Given the description of an element on the screen output the (x, y) to click on. 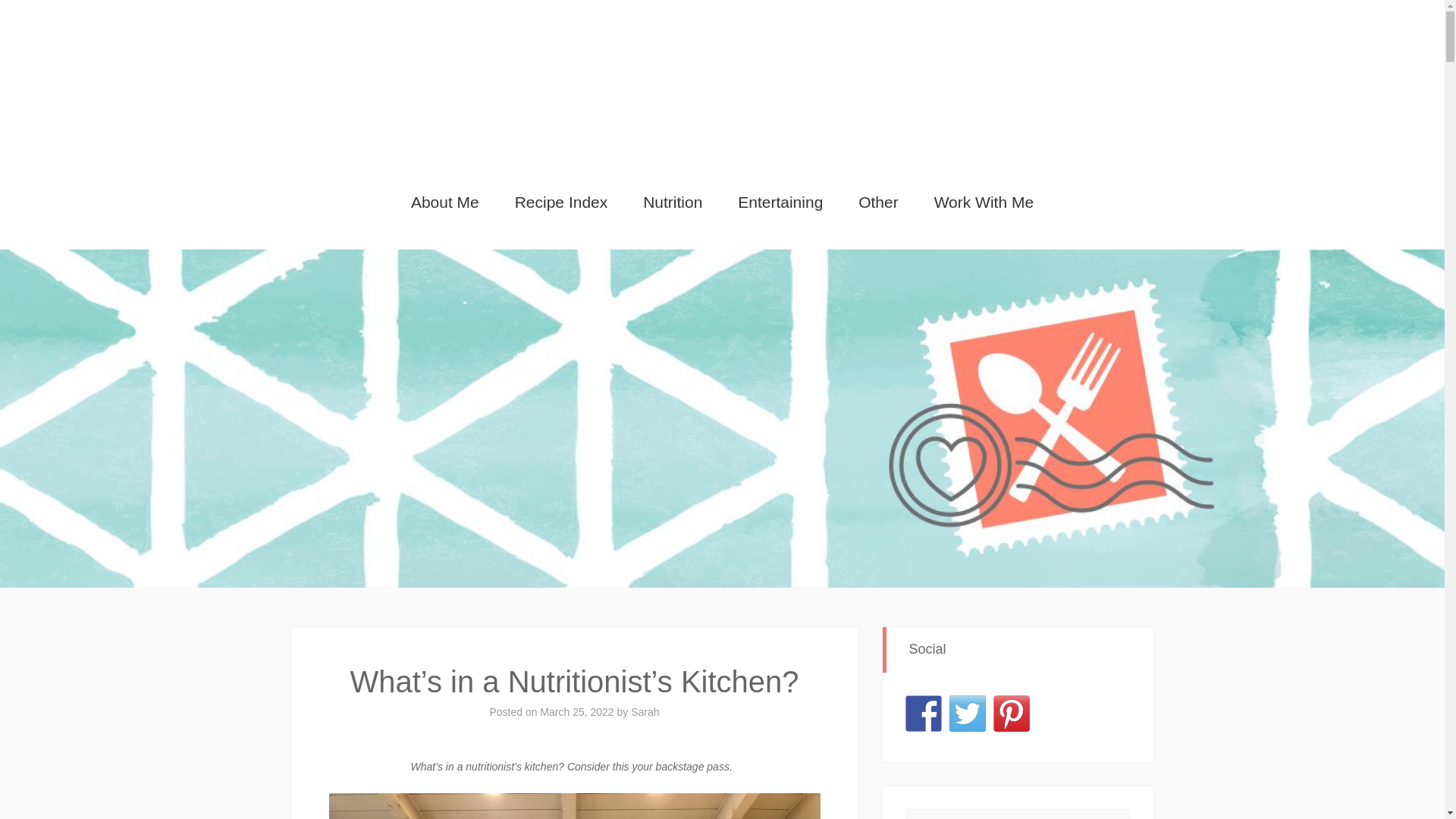
March 25, 2022 (576, 711)
Follow us on Twitter (967, 713)
Sarah (644, 711)
Other (879, 202)
A Love Letter To Food (721, 74)
Nutrition (673, 202)
A Love Letter To Food (721, 74)
Follow us on Facebook (923, 713)
Work With Me (983, 202)
Recipe Index (561, 202)
